Given the description of an element on the screen output the (x, y) to click on. 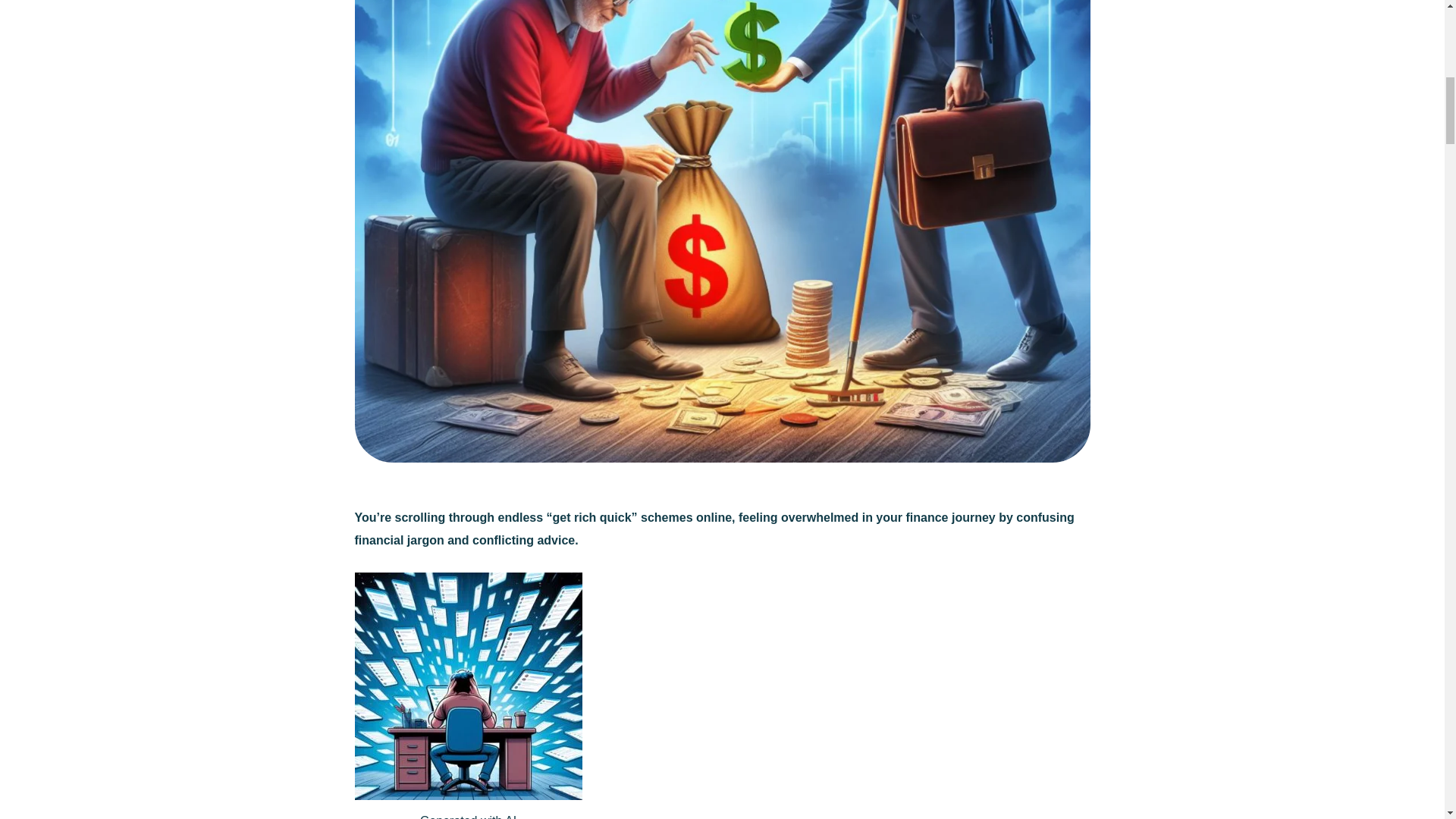
Finance Journey: 7 Shocking Tricks They Don't Tell You 1 (468, 686)
